Given the description of an element on the screen output the (x, y) to click on. 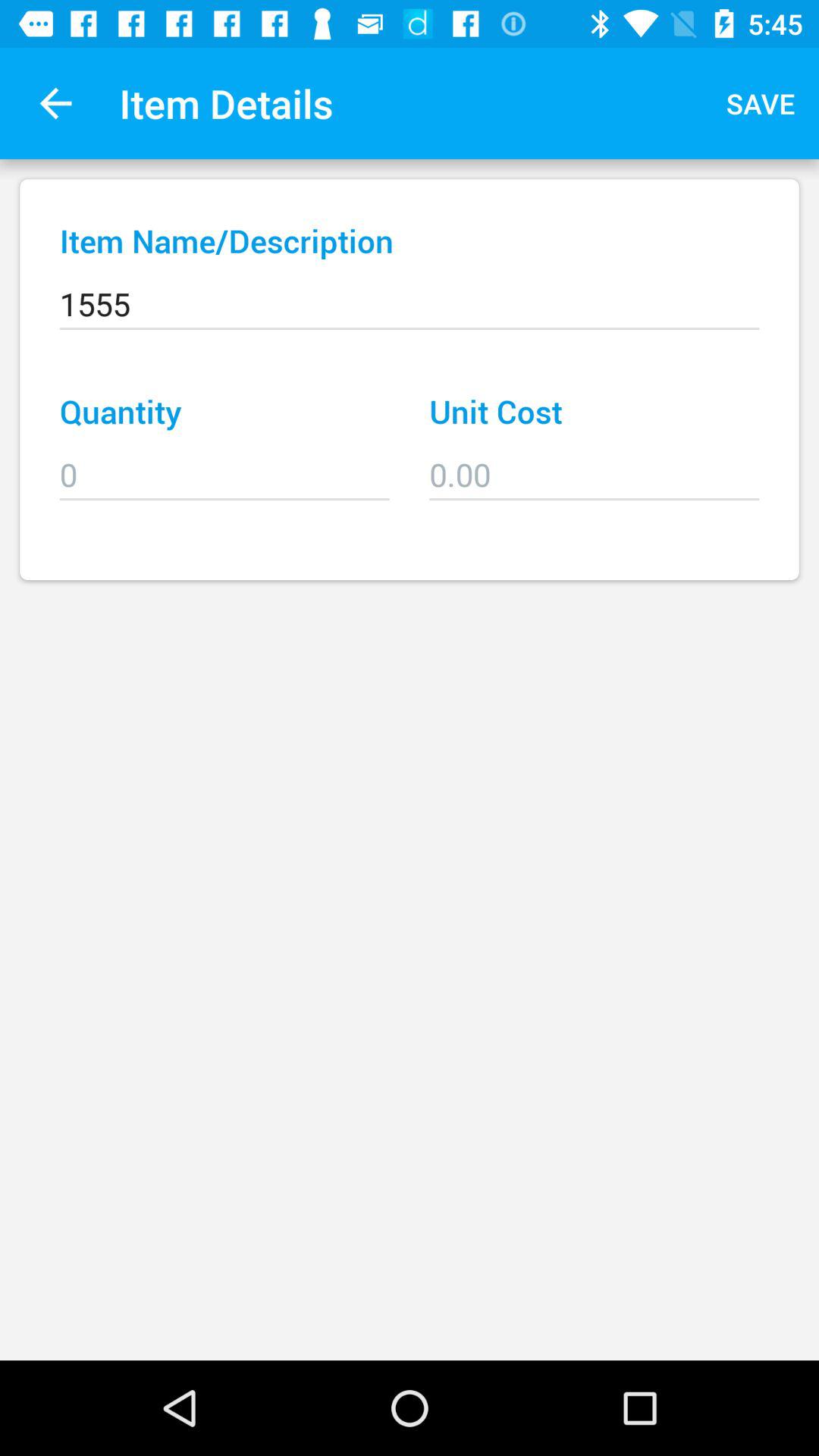
open the item below quantity item (224, 463)
